Given the description of an element on the screen output the (x, y) to click on. 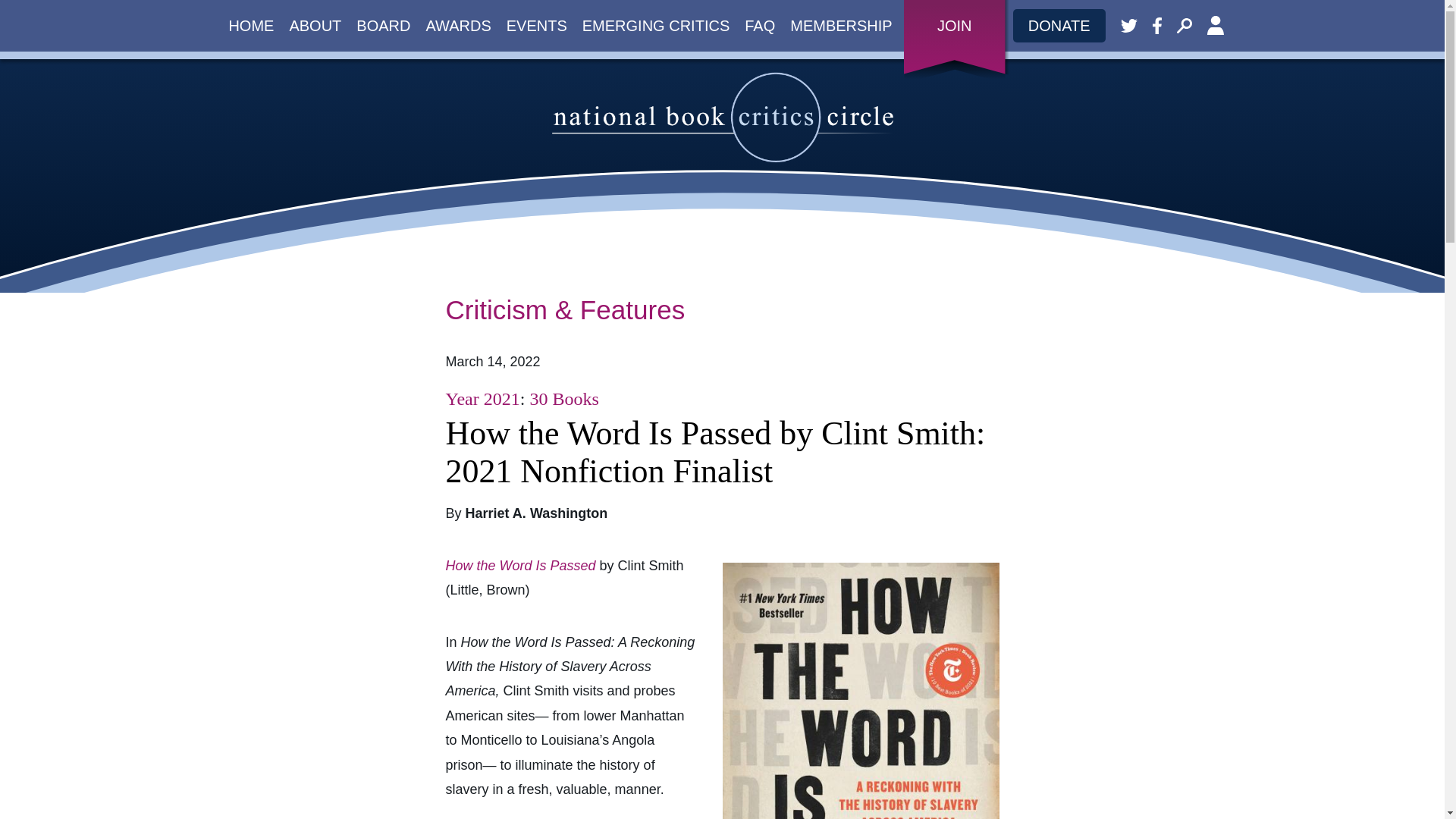
MEMBERSHIP (841, 25)
BOARD (383, 25)
JOIN (955, 25)
ABOUT (315, 25)
View all posts in Year 2021 (482, 398)
HOME (251, 25)
View all posts in 30 Books (563, 398)
Year 2021 (482, 398)
AWARDS (457, 25)
DONATE (1059, 25)
How the Word Is Passed (520, 565)
30 Books (563, 398)
EVENTS (537, 25)
EMERGING CRITICS (655, 25)
